Given the description of an element on the screen output the (x, y) to click on. 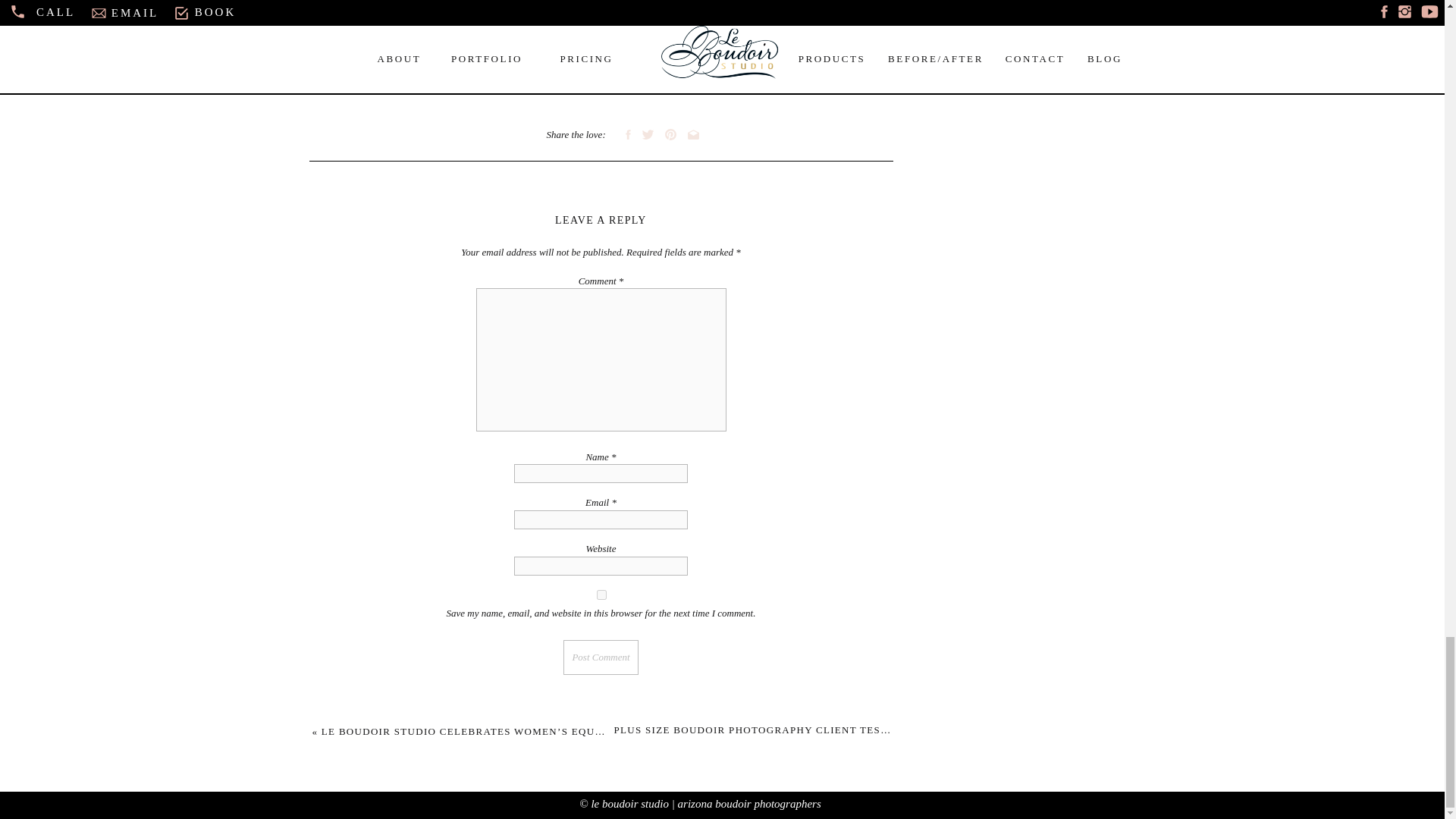
yes (600, 594)
Post Comment (600, 656)
